Given the description of an element on the screen output the (x, y) to click on. 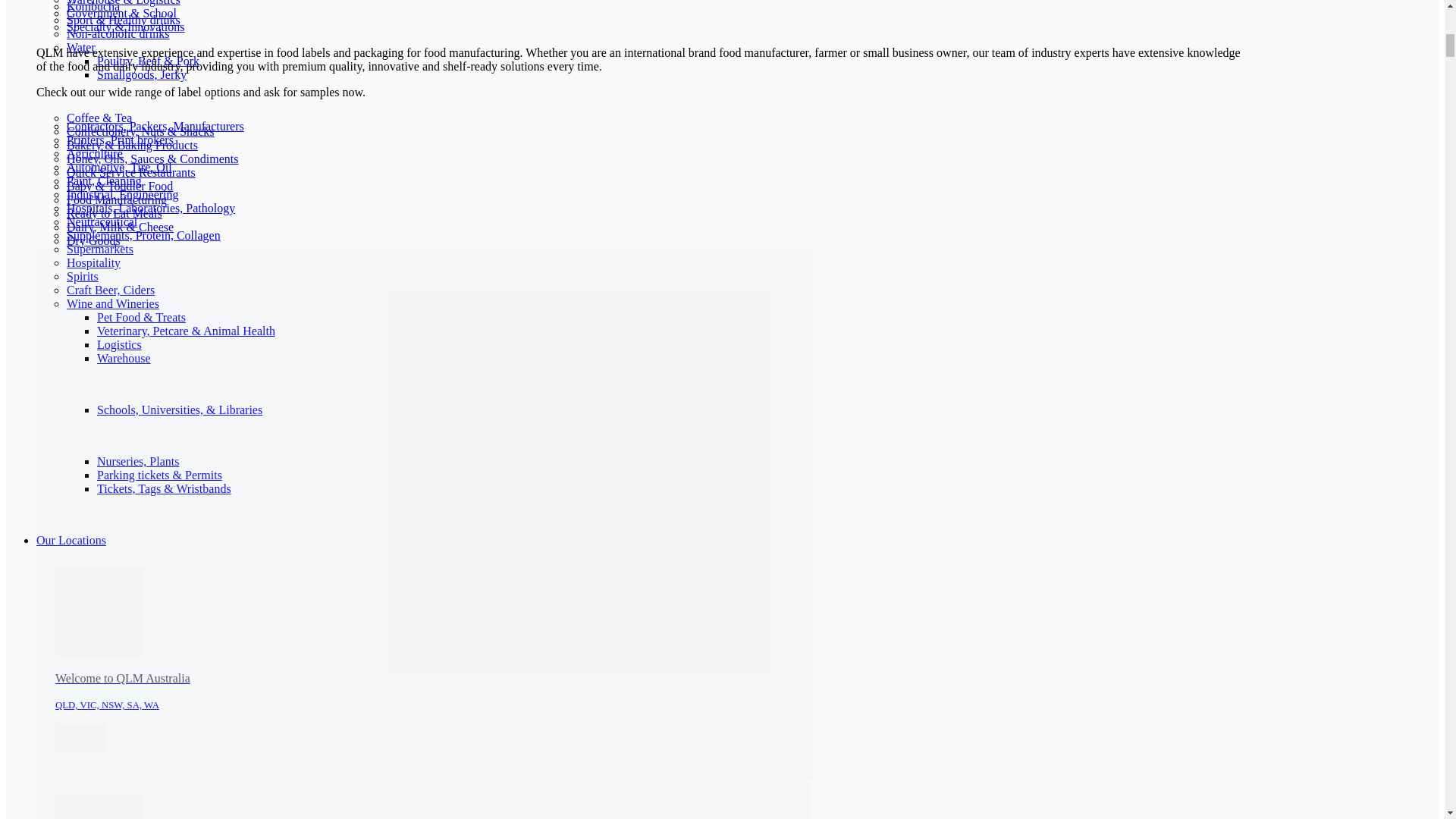
Printers, Print brokers (119, 139)
Non-alcoholic drinks (118, 33)
Kombucha (92, 6)
Water (81, 47)
Contractors, Packers, Manufacturers (155, 125)
Smallgoods, Jerky (141, 74)
